Given the description of an element on the screen output the (x, y) to click on. 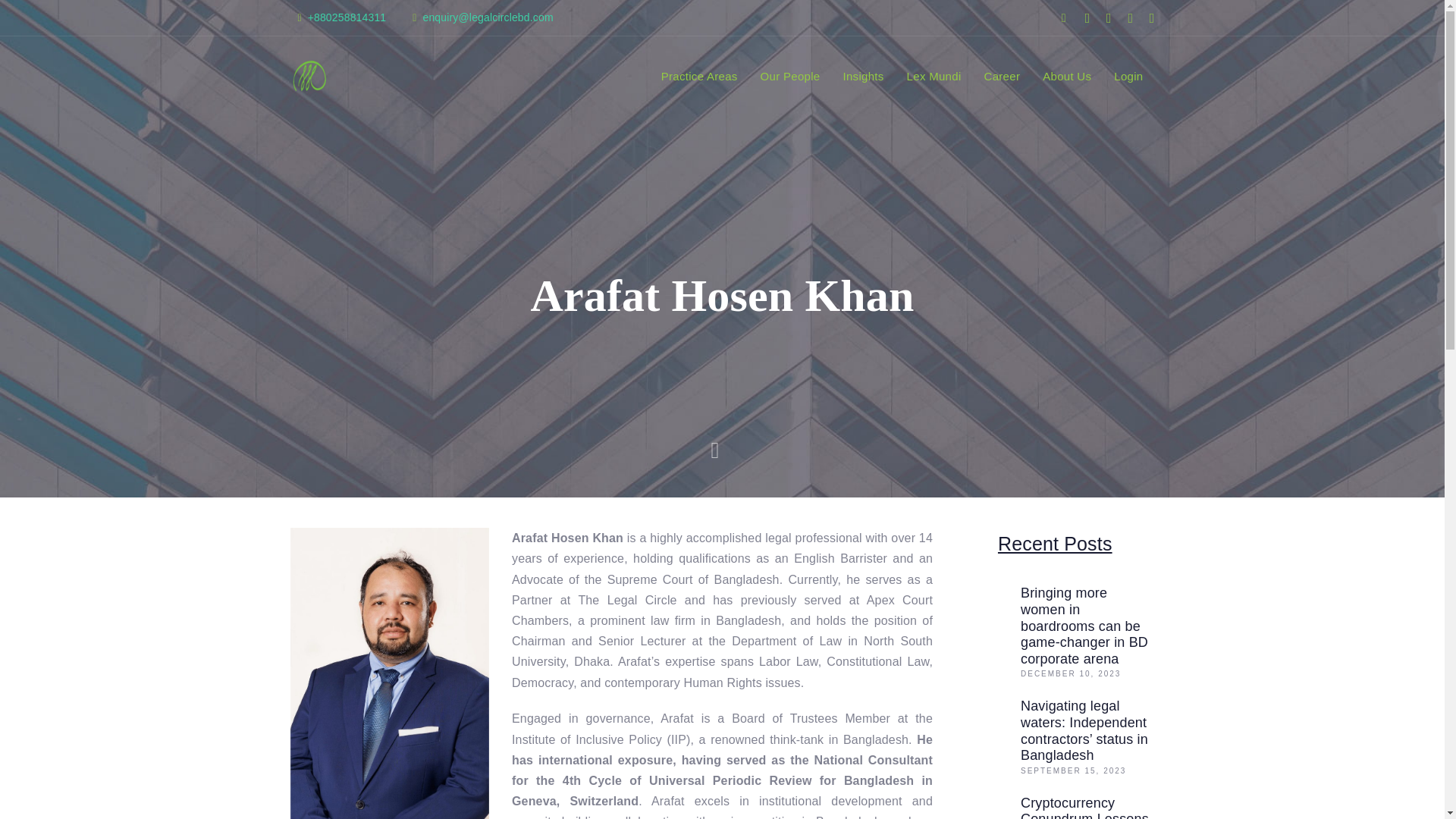
Practice Areas (699, 76)
Lex Mundi (933, 76)
Our People (790, 76)
